Given the description of an element on the screen output the (x, y) to click on. 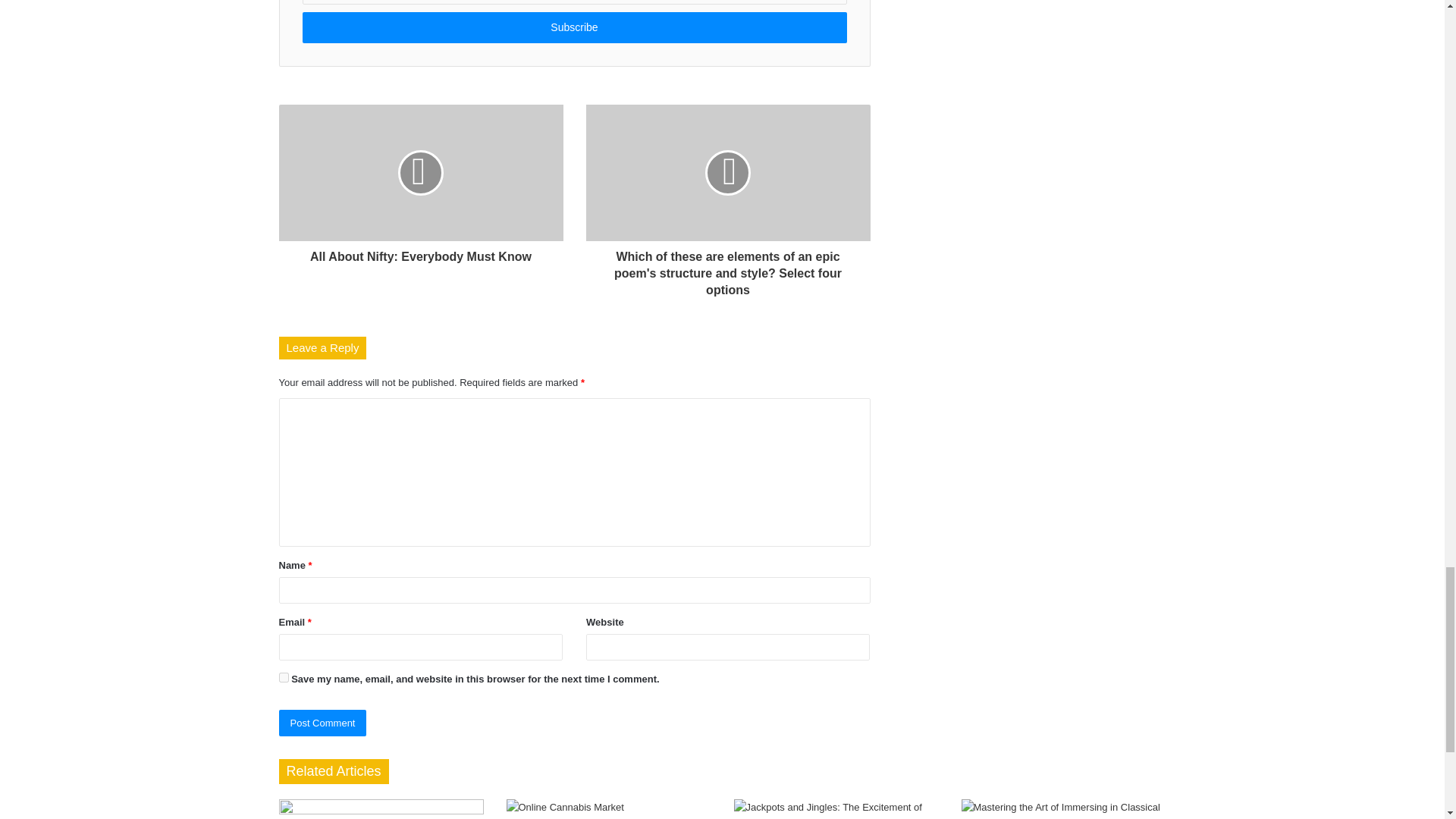
Subscribe (573, 27)
yes (283, 677)
Post Comment (322, 723)
